Given the description of an element on the screen output the (x, y) to click on. 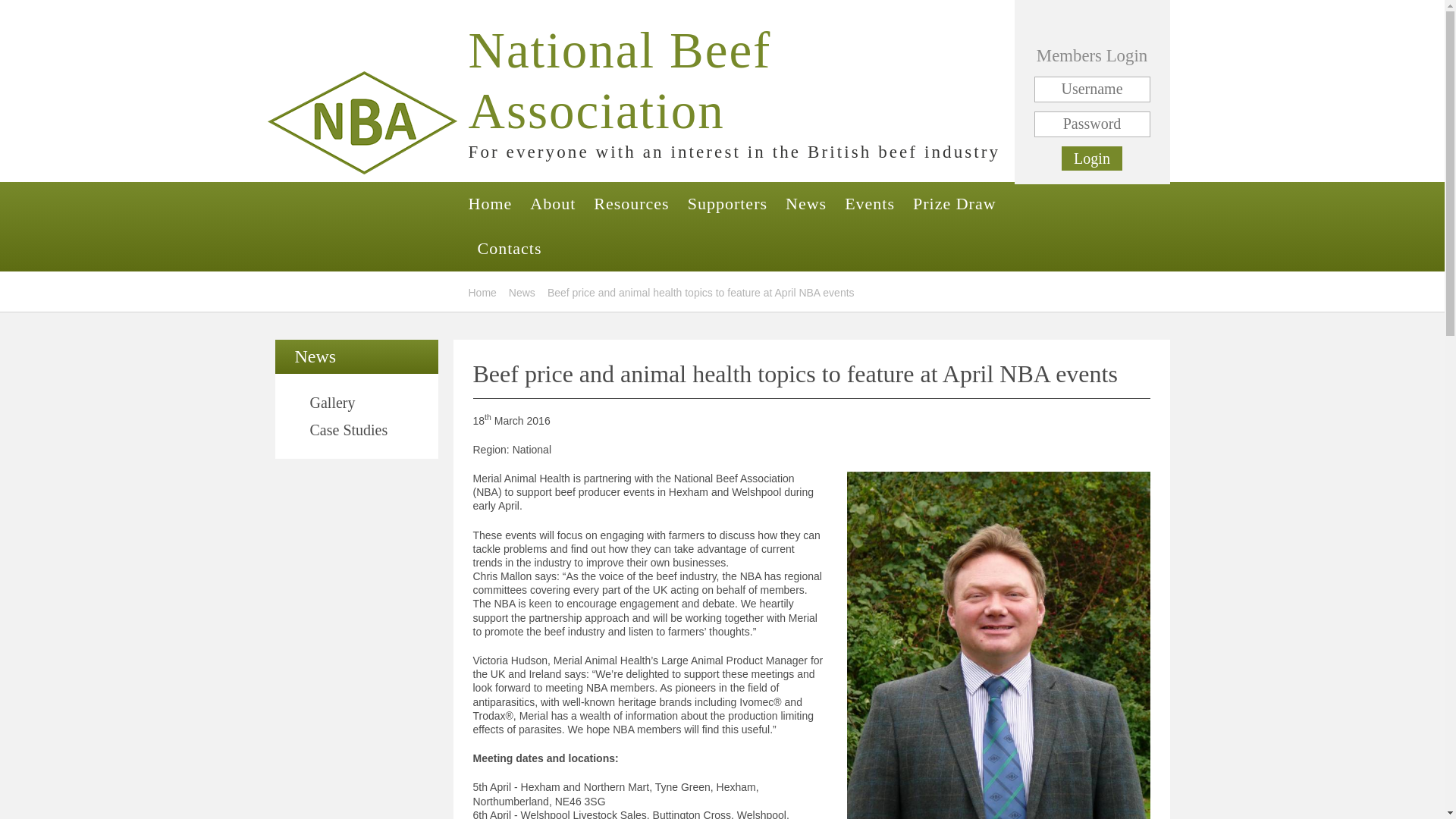
Home (494, 203)
Resources (631, 203)
Contacts (504, 248)
News (805, 203)
Supporters (727, 203)
About (553, 203)
Login (1091, 158)
Login (1091, 158)
Home (482, 293)
Events (869, 203)
